Given the description of an element on the screen output the (x, y) to click on. 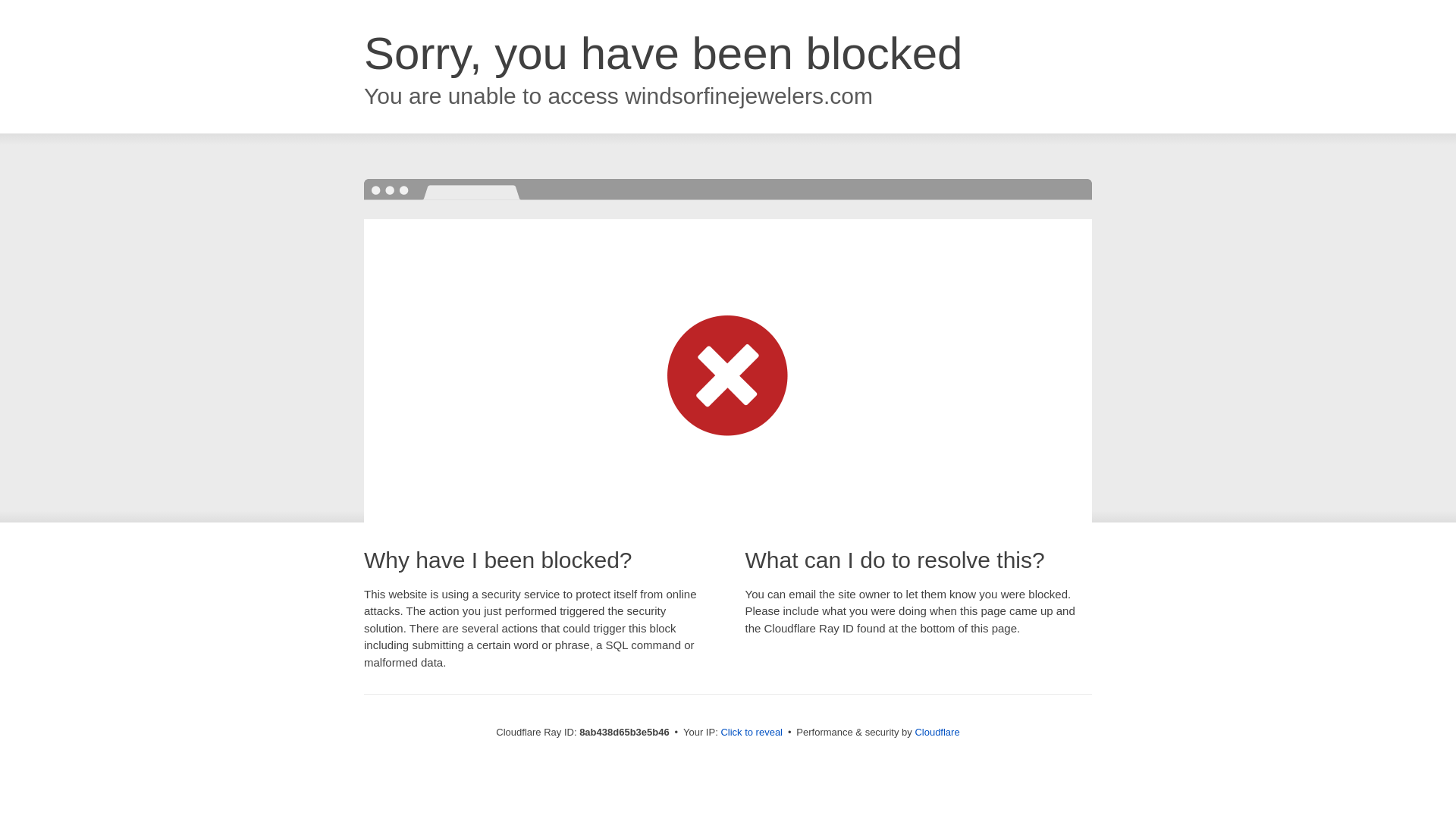
Cloudflare (936, 731)
Click to reveal (751, 732)
